Given the description of an element on the screen output the (x, y) to click on. 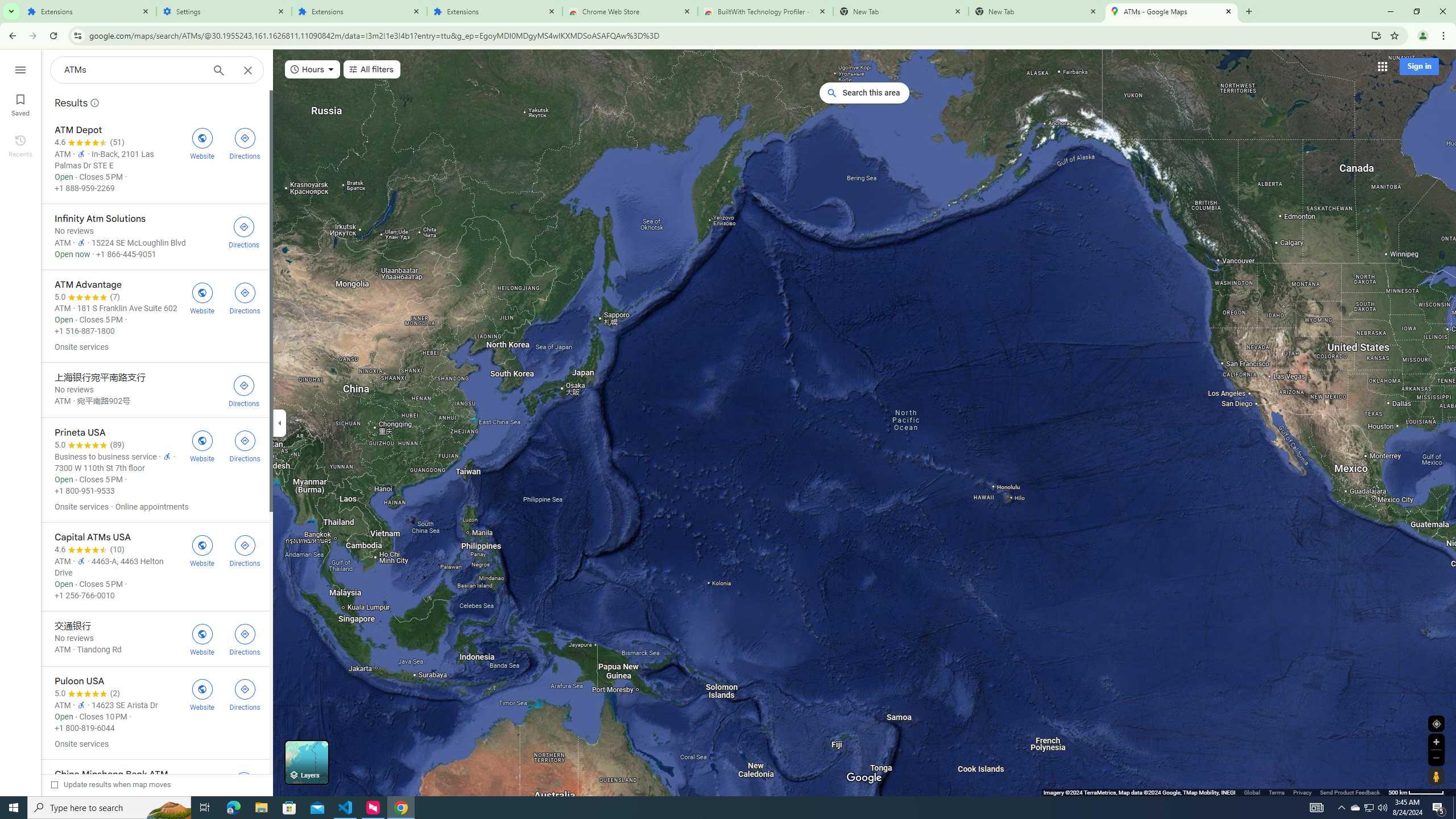
Infinity Atm Solutions (154, 236)
4.6 stars 10 Reviews (90, 549)
Zoom out (1436, 757)
Extensions (88, 11)
